Given the description of an element on the screen output the (x, y) to click on. 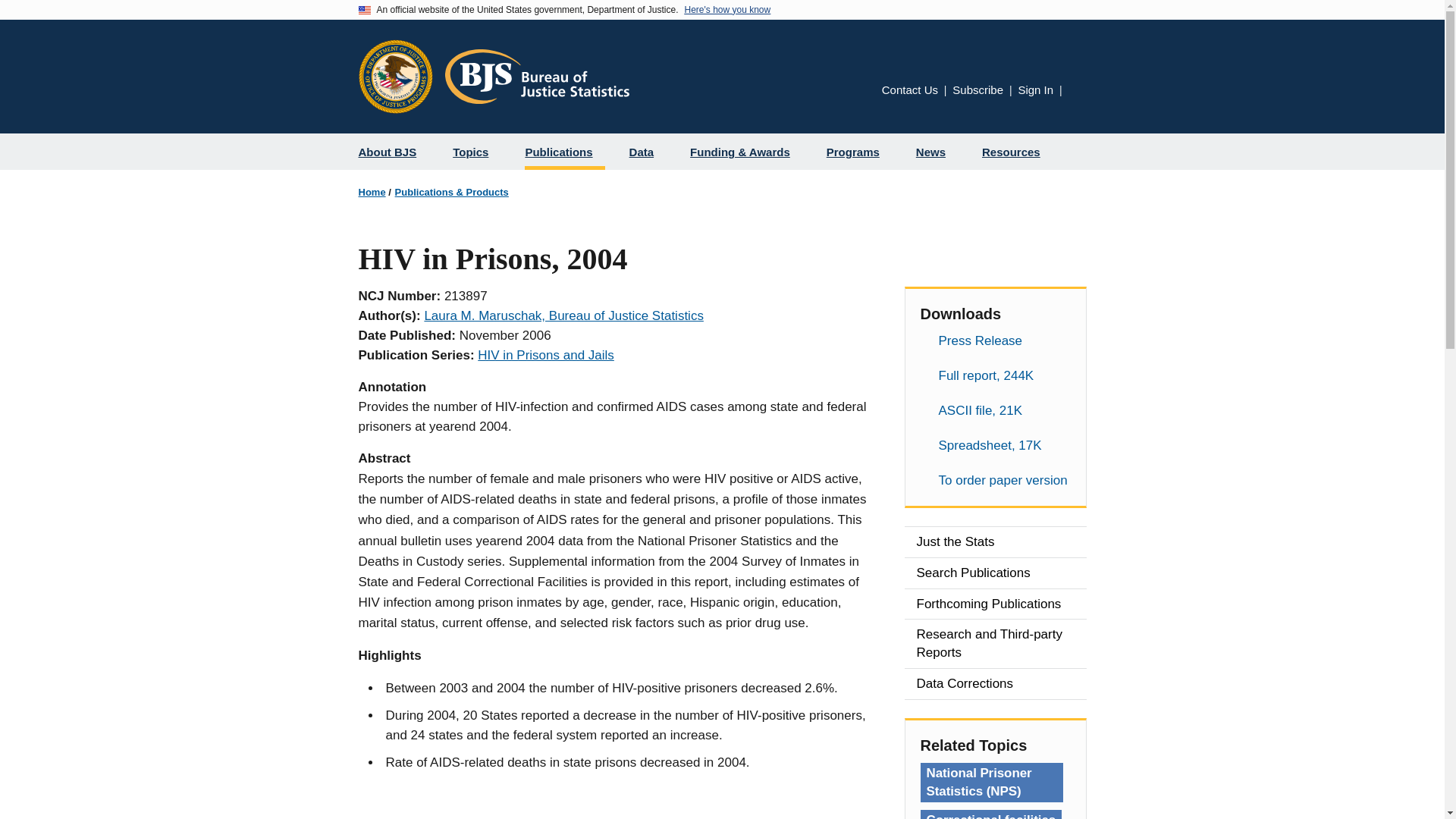
Spreadsheet, 17K (995, 445)
ASCII file, 21K (995, 410)
Laura M. Maruschak, Bureau of Justice Statistics (563, 315)
Press Release (995, 341)
Programs (858, 151)
Search Publications (995, 572)
News (936, 151)
Choose a social sharing platform (1076, 92)
Home (536, 76)
Home (371, 191)
